Given the description of an element on the screen output the (x, y) to click on. 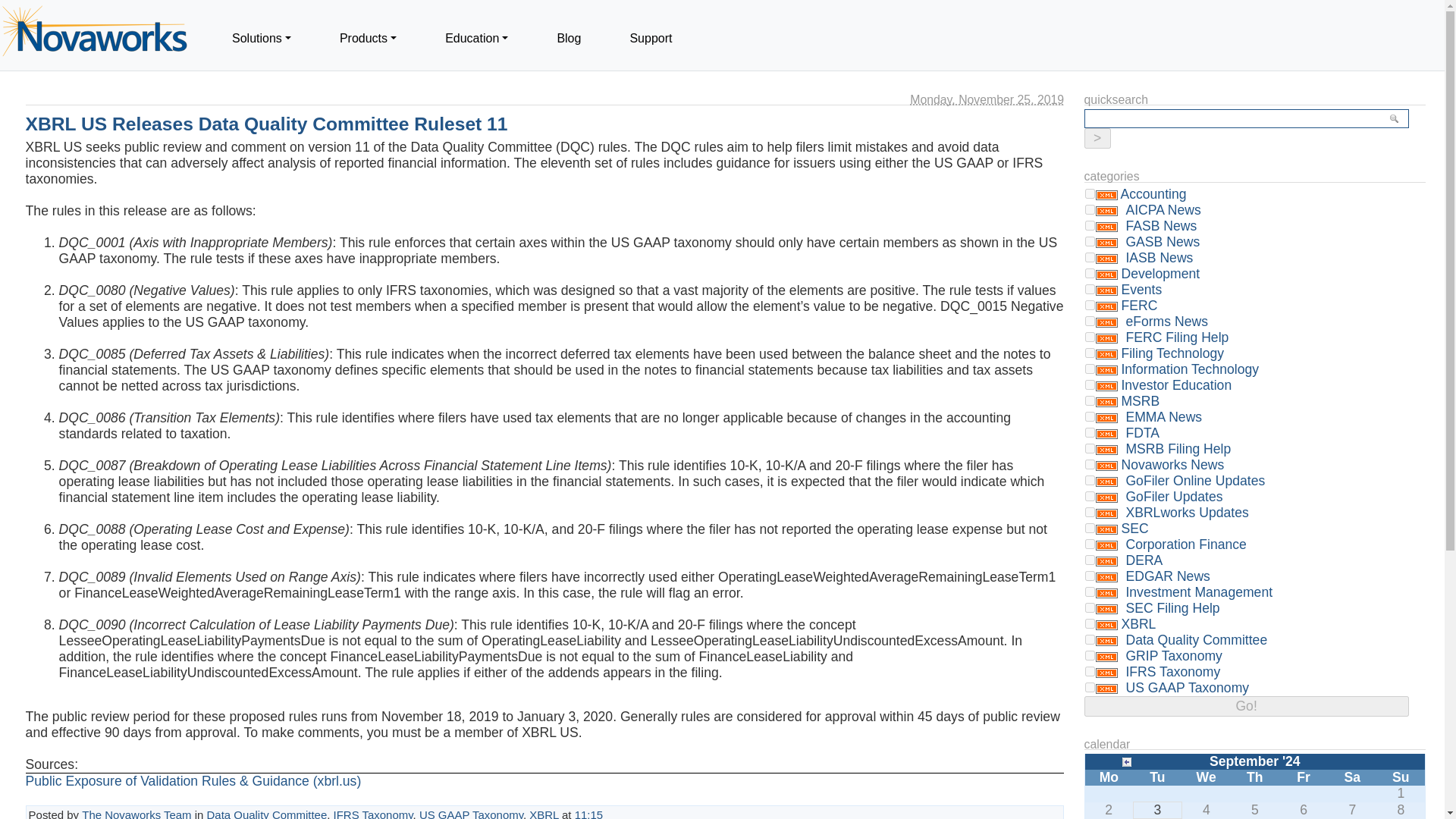
Go! (1097, 137)
Support (650, 38)
10 (1090, 305)
XBRL US Releases Data Quality Committee Ruleset 11 (267, 123)
6 (1090, 368)
33 (1090, 432)
Important news and notices for the EMMA Filing Community. (1161, 417)
Data Quality Committee (266, 813)
